Given the description of an element on the screen output the (x, y) to click on. 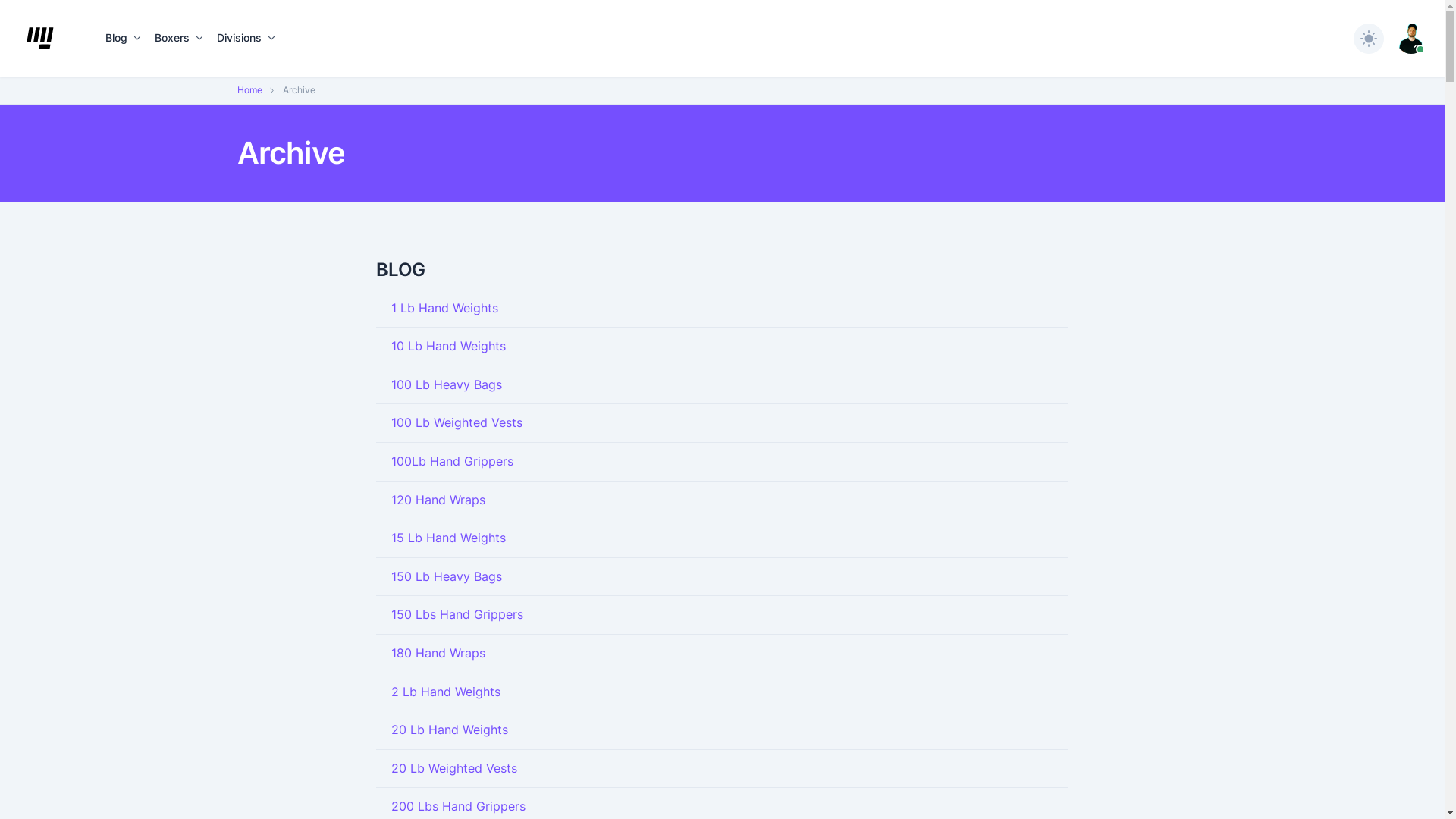
2 Lb Hand Weights Element type: text (445, 691)
1 Lb Hand Weights Element type: text (444, 307)
150 Lbs Hand Grippers Element type: text (457, 613)
20 Lb Hand Weights Element type: text (449, 729)
100 Lb Weighted Vests Element type: text (456, 421)
Blog Element type: text (123, 37)
180 Hand Wraps Element type: text (438, 652)
100 Lb Heavy Bags Element type: text (446, 384)
150 Lb Heavy Bags Element type: text (446, 575)
Home Element type: text (248, 89)
20 Lb Weighted Vests Element type: text (454, 767)
15 Lb Hand Weights Element type: text (448, 537)
Boxers Element type: text (179, 37)
200 Lbs Hand Grippers Element type: text (458, 805)
100Lb Hand Grippers Element type: text (452, 460)
BLOG Element type: text (722, 269)
10 Lb Hand Weights Element type: text (448, 345)
120 Hand Wraps Element type: text (438, 499)
